Given the description of an element on the screen output the (x, y) to click on. 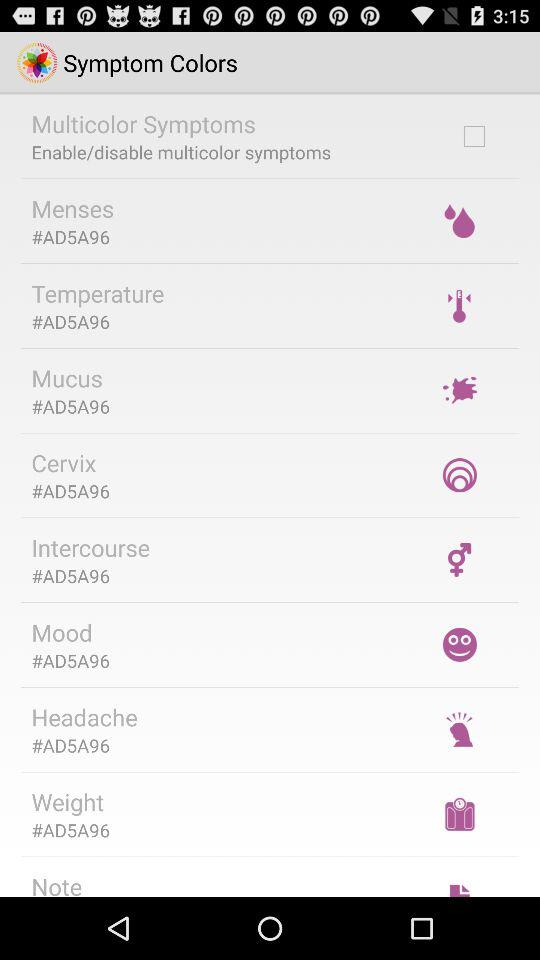
press the app above the #ad5a96 icon (97, 293)
